Given the description of an element on the screen output the (x, y) to click on. 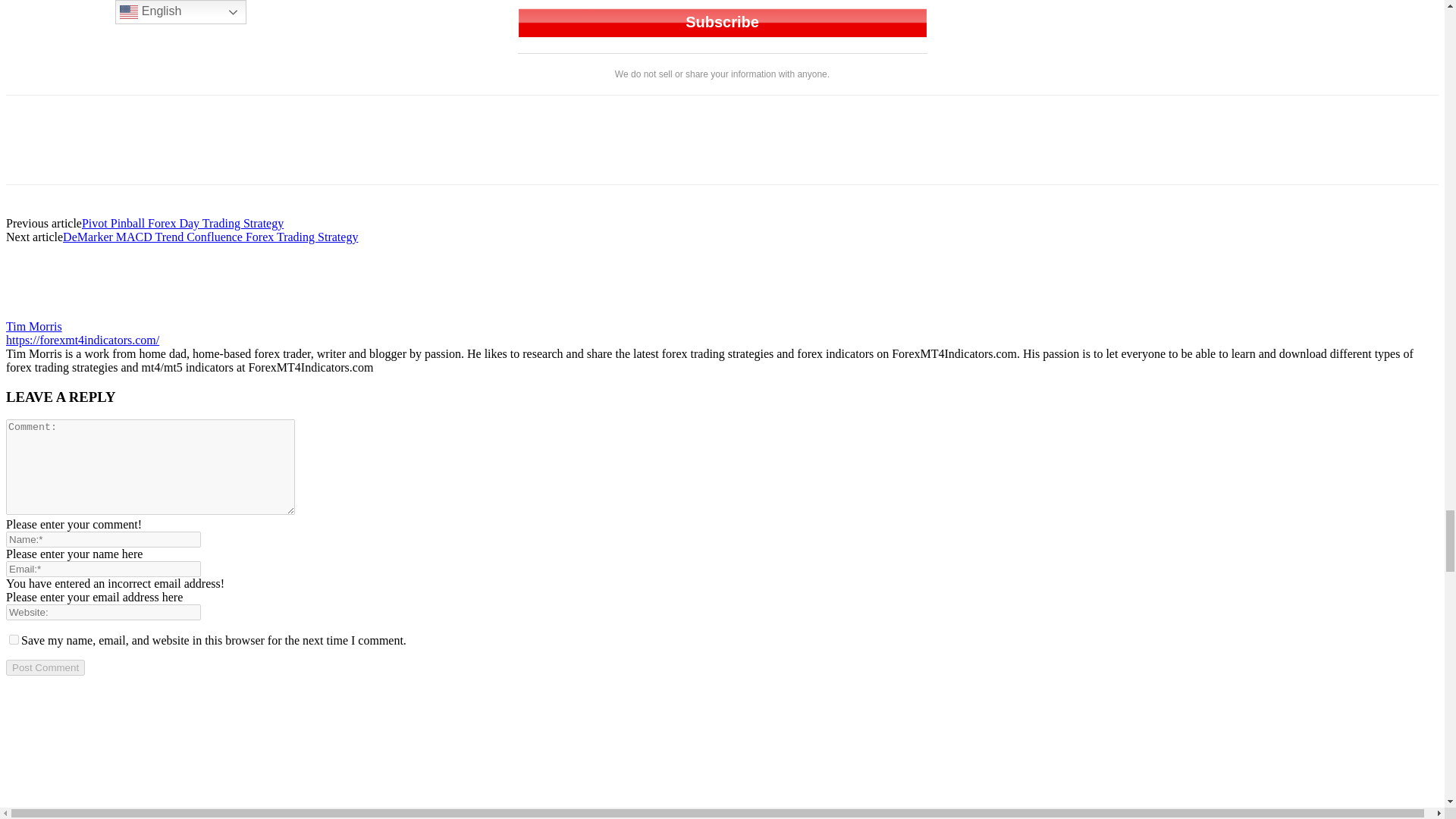
Post Comment (44, 667)
yes (13, 639)
Subscribe (721, 22)
